Given the description of an element on the screen output the (x, y) to click on. 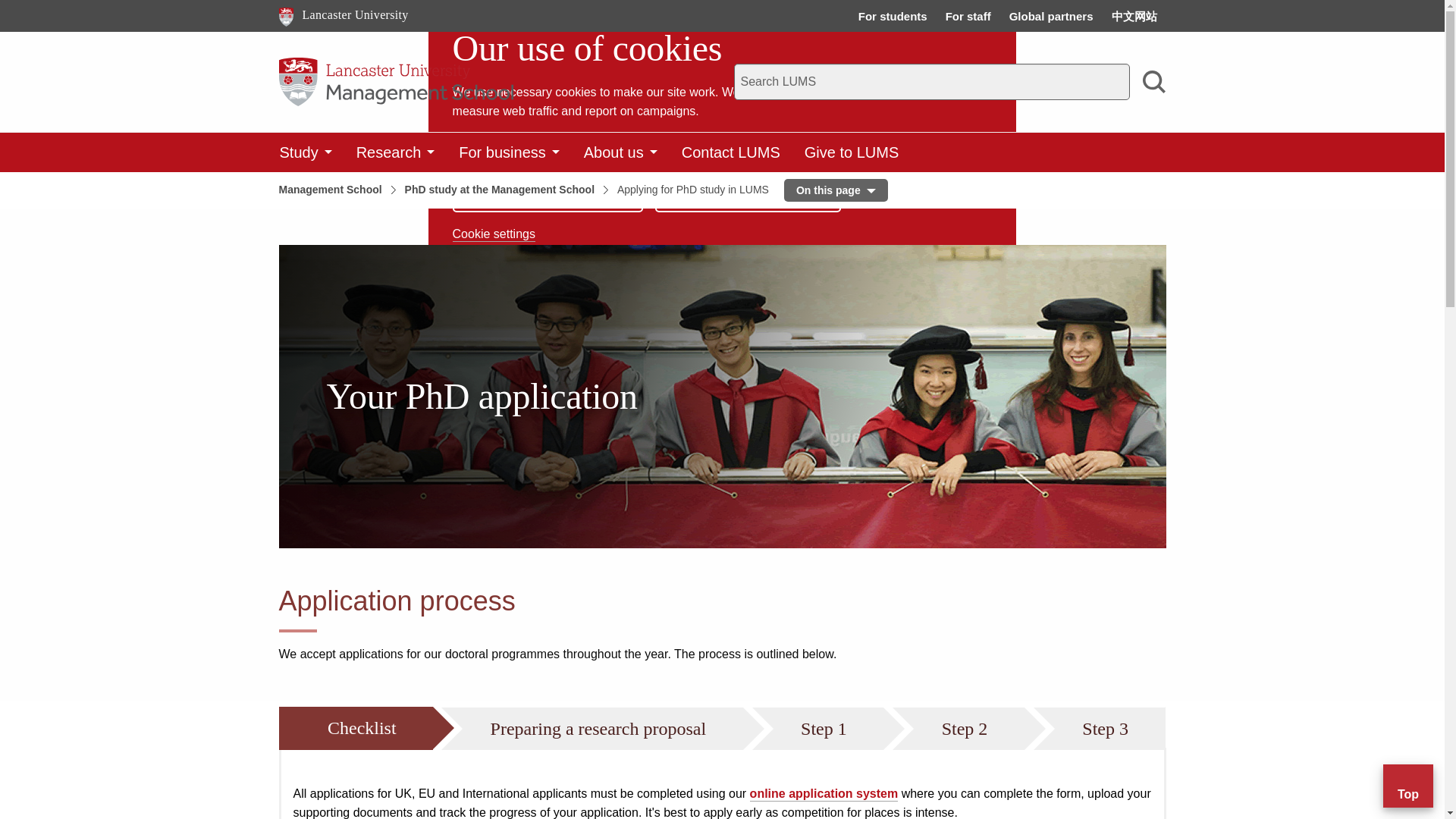
Link: Home (344, 15)
For students (893, 15)
Cookie settings (493, 234)
Accept optional cookies (344, 15)
Global partners (547, 187)
Study (1051, 15)
Reject optional cookies (304, 151)
For staff (748, 187)
